Given the description of an element on the screen output the (x, y) to click on. 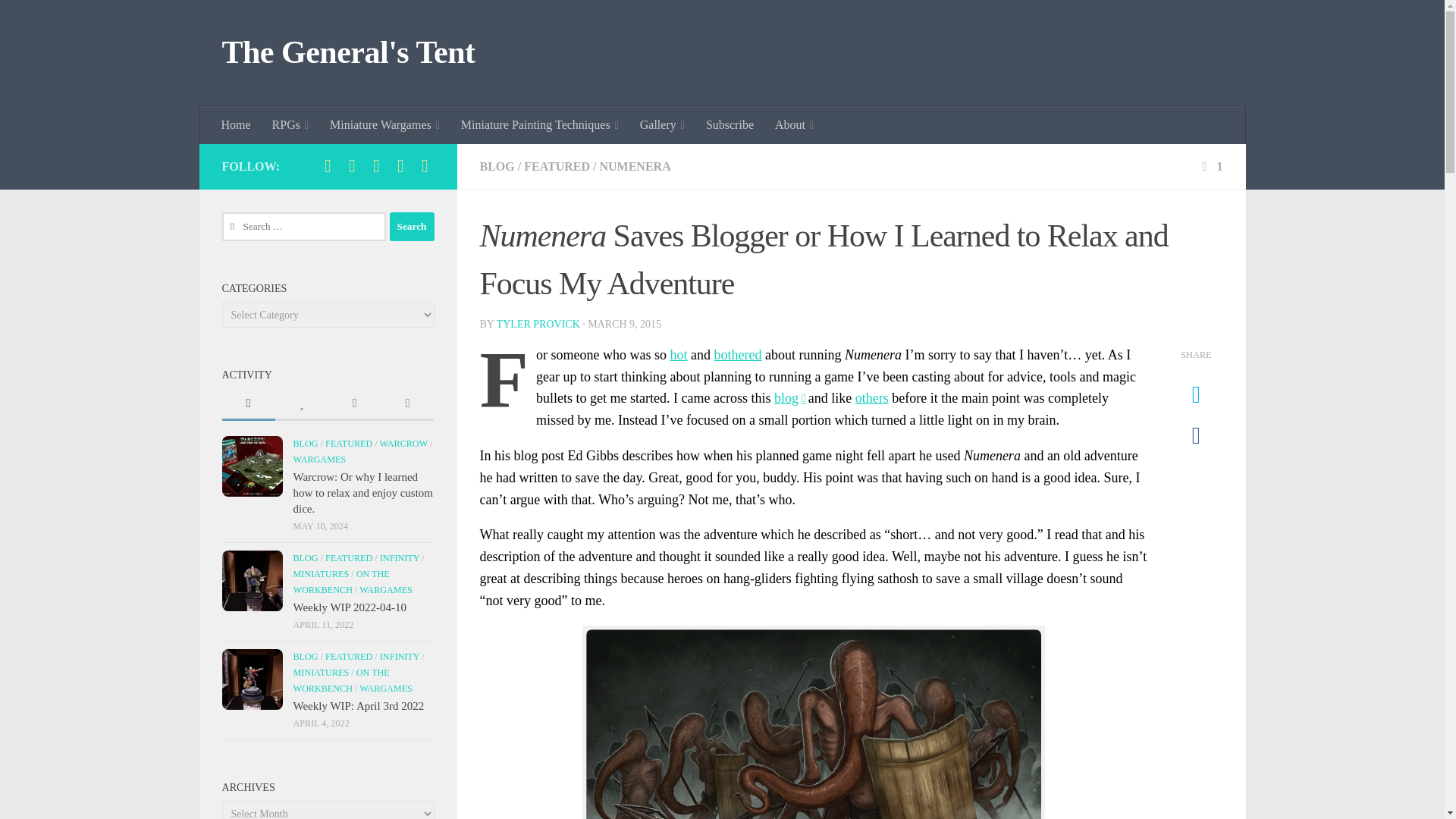
Search (411, 226)
Posts by Tyler Provick (537, 324)
The Cypher Conundrum (872, 397)
What I Like About: Numenera (737, 354)
Search (411, 226)
Cypher Save by Failing Forward (789, 397)
Skip to content (59, 20)
